Given the description of an element on the screen output the (x, y) to click on. 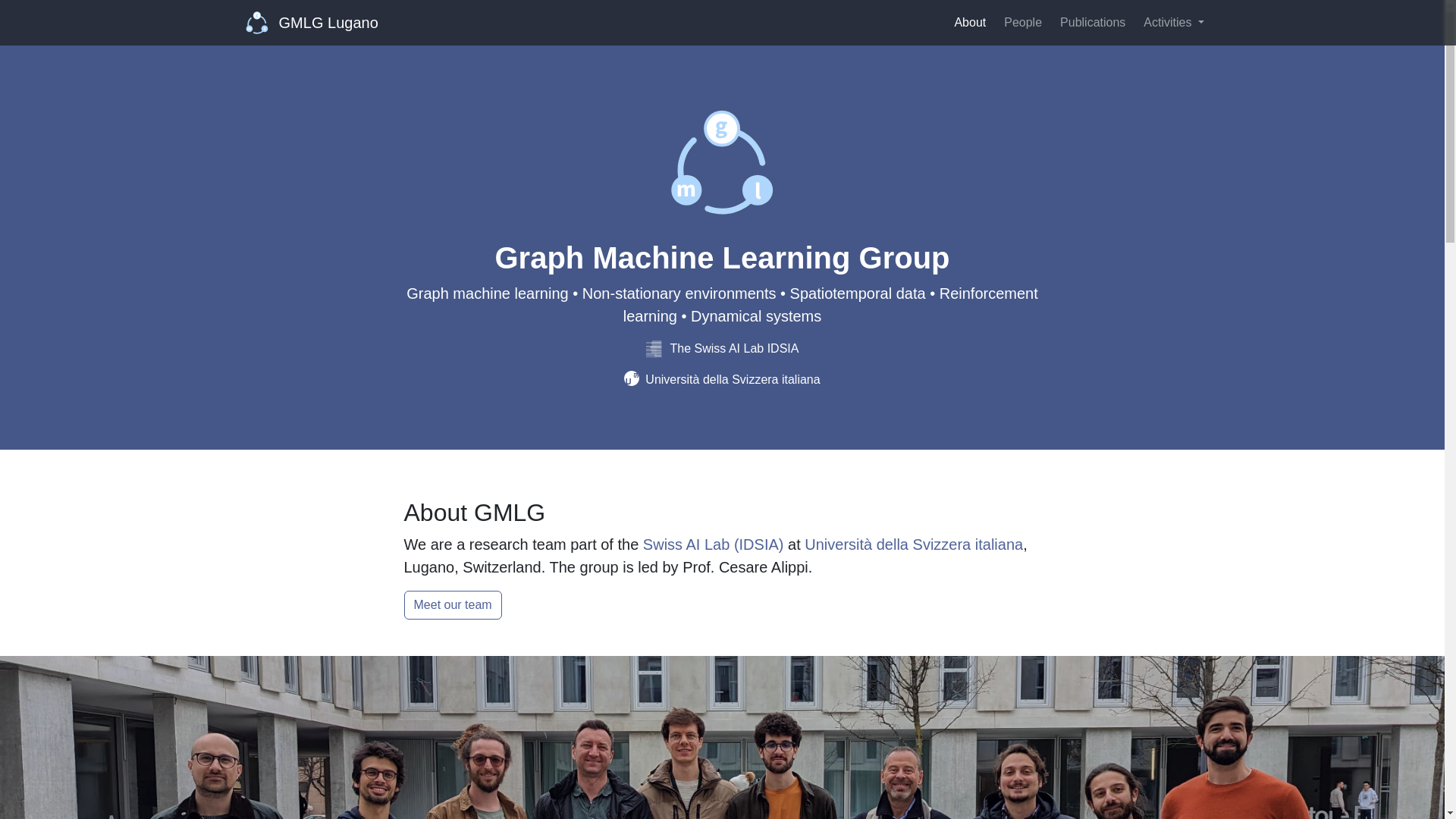
Publications (1092, 22)
GMLG Lugano (312, 22)
The Swiss AI Lab IDSIA (722, 348)
About (969, 22)
People (1022, 22)
Meet our team (451, 604)
Activities (1173, 22)
